Given the description of an element on the screen output the (x, y) to click on. 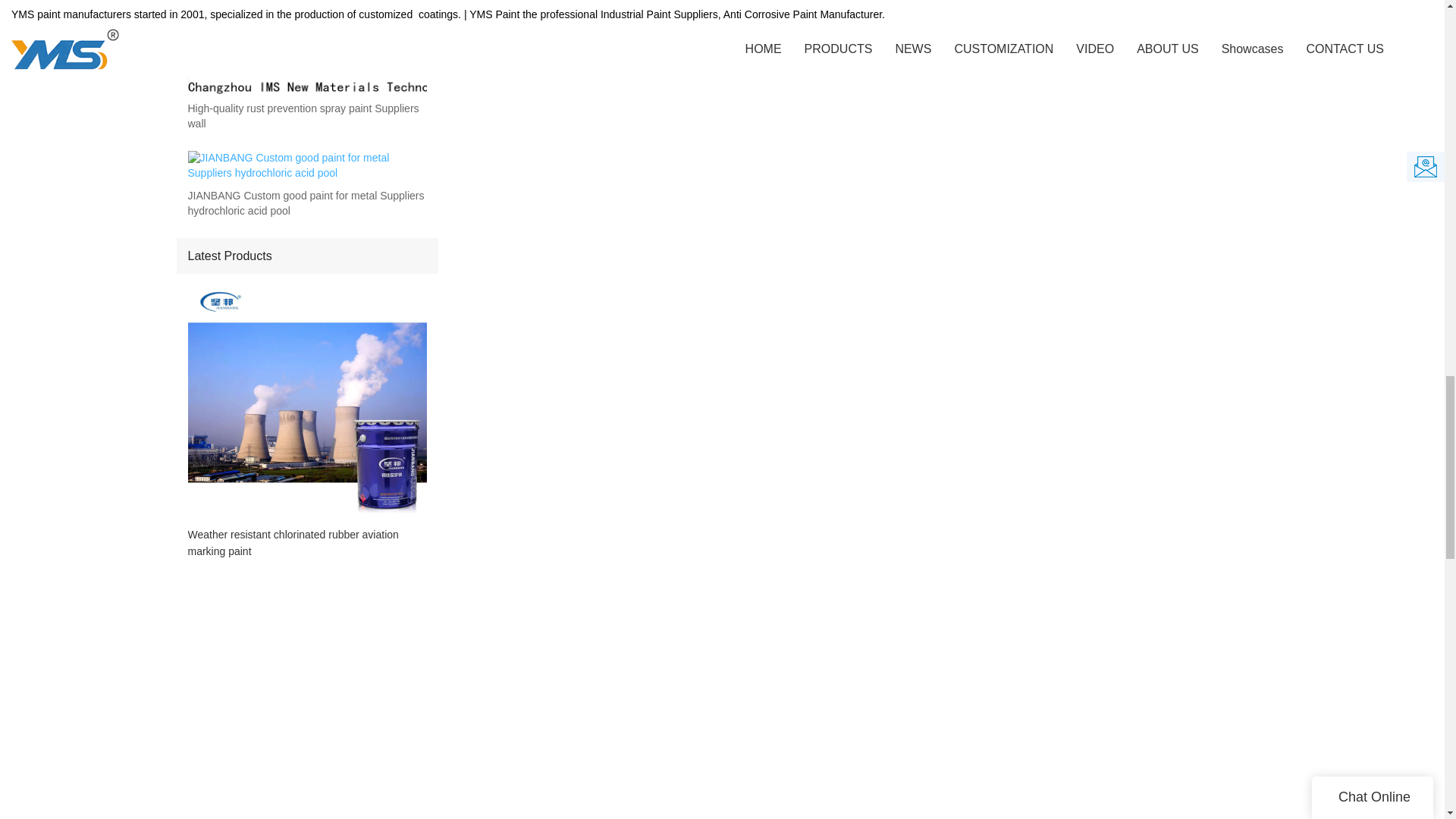
High-quality rust prevention spray paint Suppliers wall (306, 116)
High-quality rust prevention spray paint Suppliers wall (306, 116)
Weather resistant chlorinated rubber aviation marking paint (306, 542)
